Given the description of an element on the screen output the (x, y) to click on. 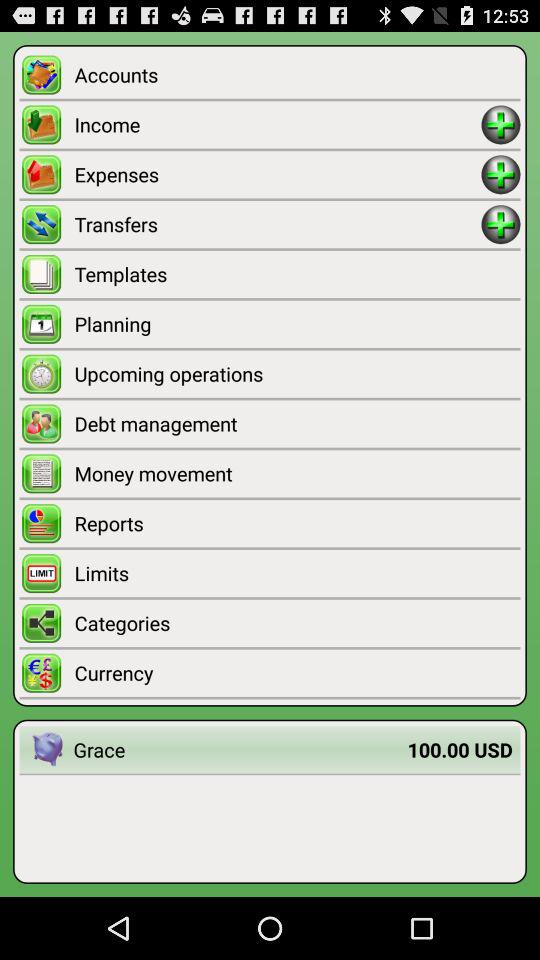
click icon above currency icon (297, 622)
